Given the description of an element on the screen output the (x, y) to click on. 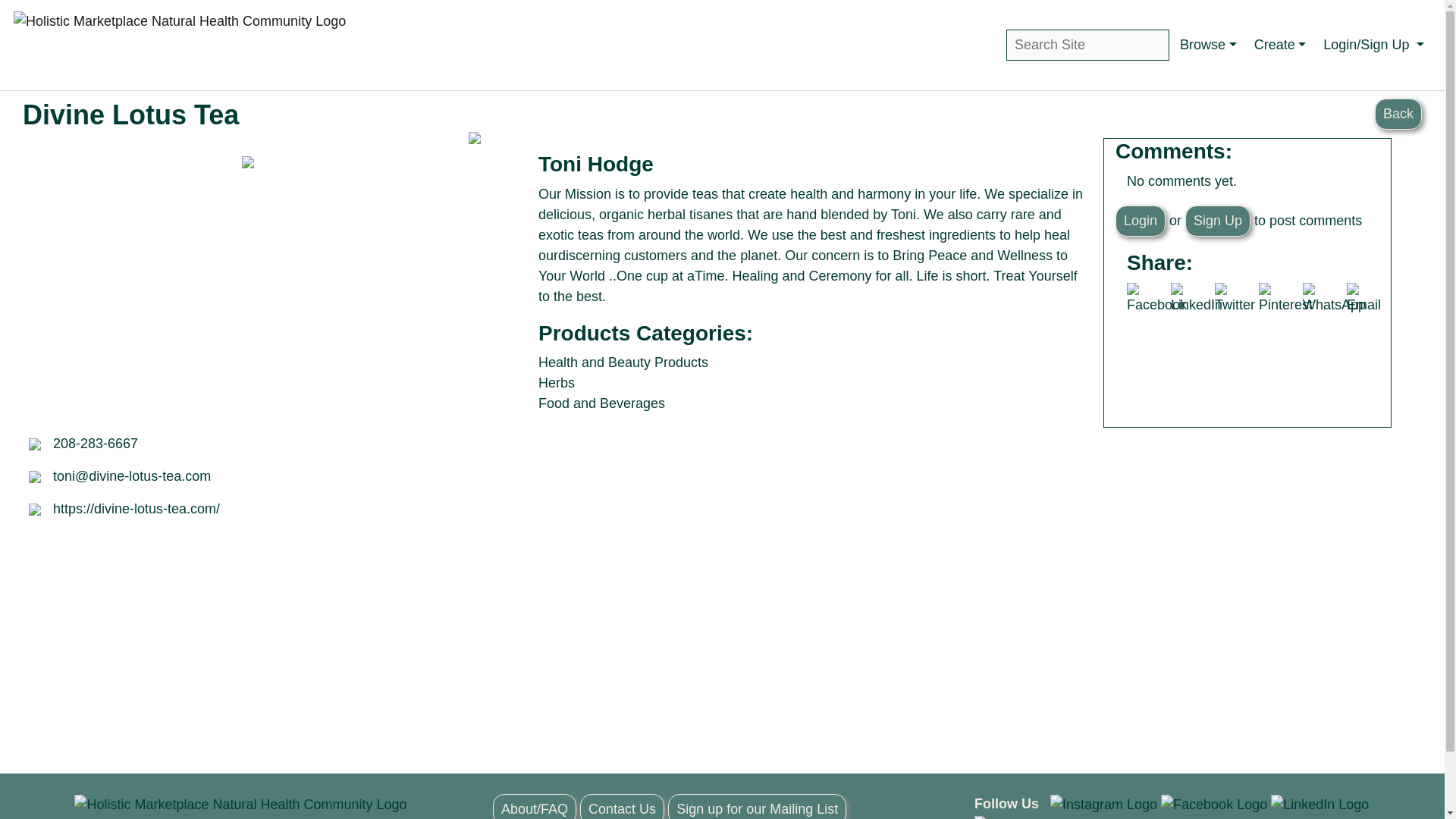
Browse (1208, 44)
Create (1280, 44)
Login (1140, 220)
LinkedIn (1196, 298)
Sign Up (1217, 220)
Back (1398, 113)
YouTube video player (248, 313)
Pinterest (1286, 298)
WhatsApp (1334, 298)
208-283-6667 (95, 443)
